Given the description of an element on the screen output the (x, y) to click on. 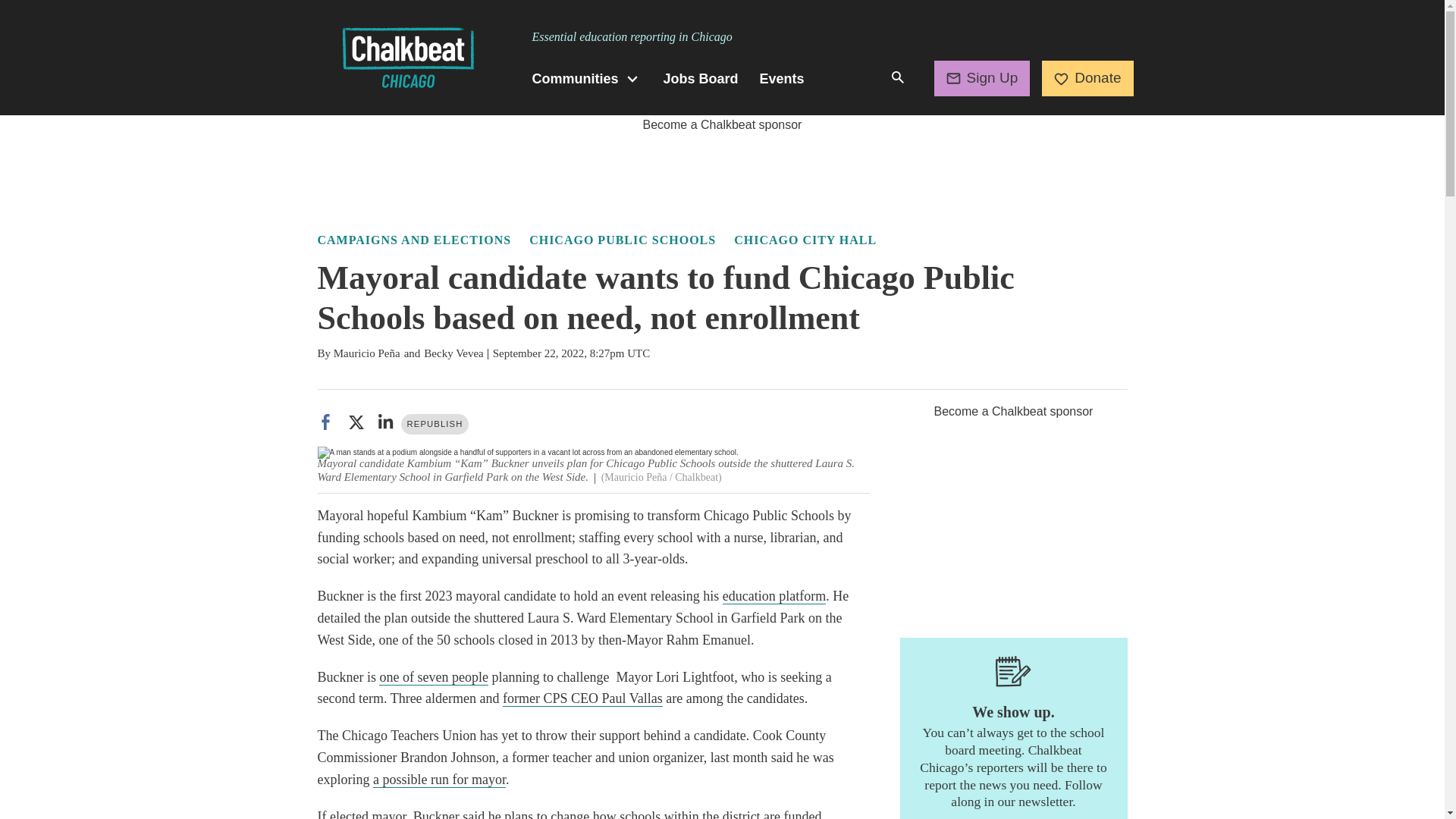
education platform (773, 596)
a possible run for mayor (438, 779)
former CPS CEO Paul Vallas (582, 698)
Donate (1087, 77)
CAMPAIGNS AND ELECTIONS (414, 239)
one of seven people (432, 677)
Events (782, 79)
Sign Up (982, 77)
Becky Vevea (453, 353)
Jobs Board (700, 79)
Become a Chalkbeat sponsor (722, 124)
CHICAGO PUBLIC SCHOOLS (622, 239)
CHICAGO CITY HALL (804, 239)
REPUBLISH (434, 424)
